Given the description of an element on the screen output the (x, y) to click on. 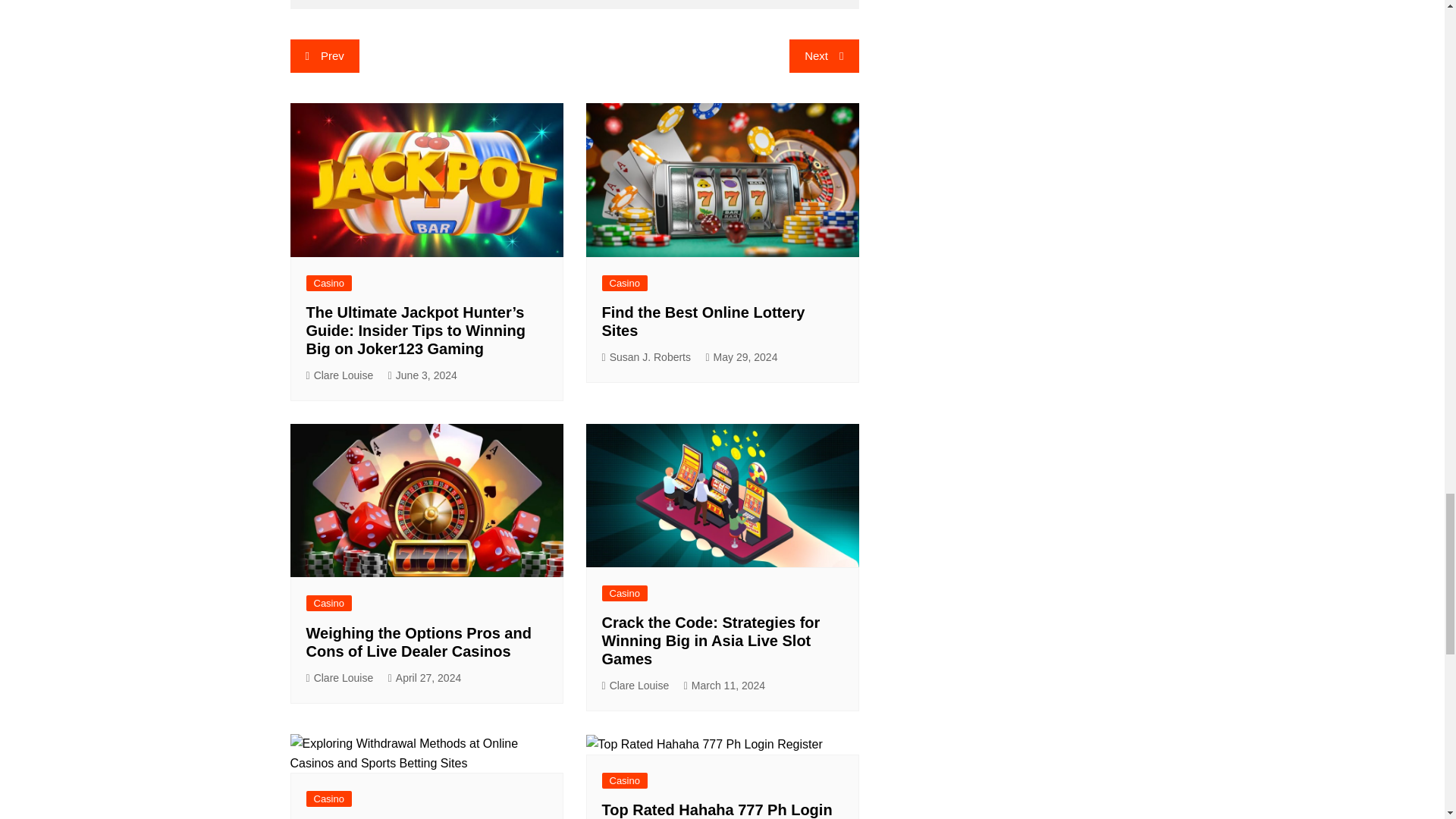
Casino (328, 602)
June 3, 2024 (422, 375)
Prev (323, 55)
Clare Louise (339, 375)
Casino (328, 283)
Casino (624, 283)
April 27, 2024 (424, 678)
Next (824, 55)
Clare Louise (339, 678)
Weighing the Options Pros and Cons of Live Dealer Casinos (418, 642)
Susan J. Roberts (646, 357)
May 29, 2024 (740, 357)
Find the Best Online Lottery Sites (703, 321)
